Given the description of an element on the screen output the (x, y) to click on. 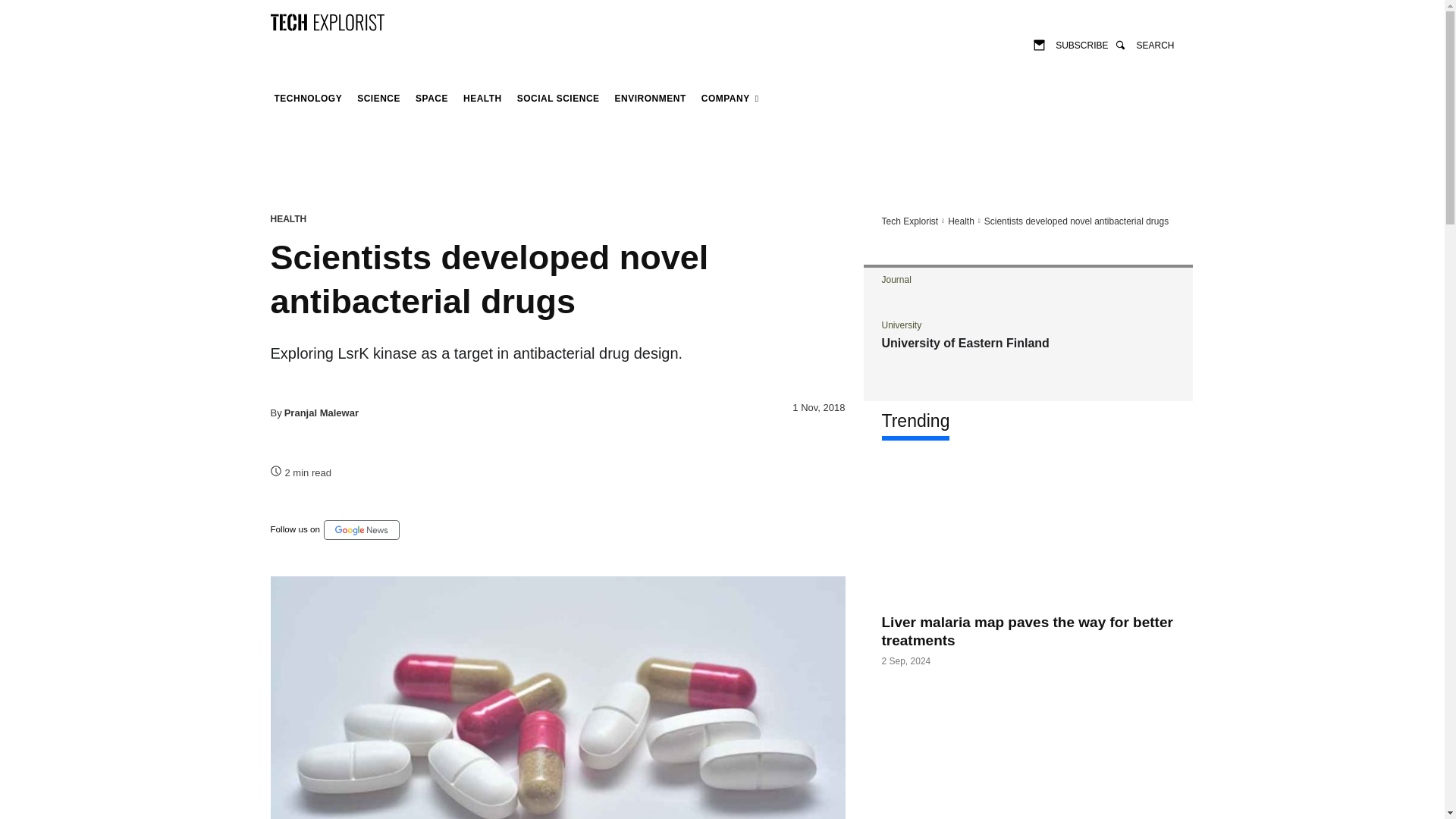
Health (482, 98)
SUBSCRIBE (1070, 44)
HEALTH (482, 98)
SUBSCRIBE (1070, 44)
TECHNOLOGY (307, 98)
SEARCH (1144, 44)
HEALTH (287, 218)
SPACE (431, 98)
Pranjal Malewar (320, 412)
Tech Explorist Home (908, 221)
